Given the description of an element on the screen output the (x, y) to click on. 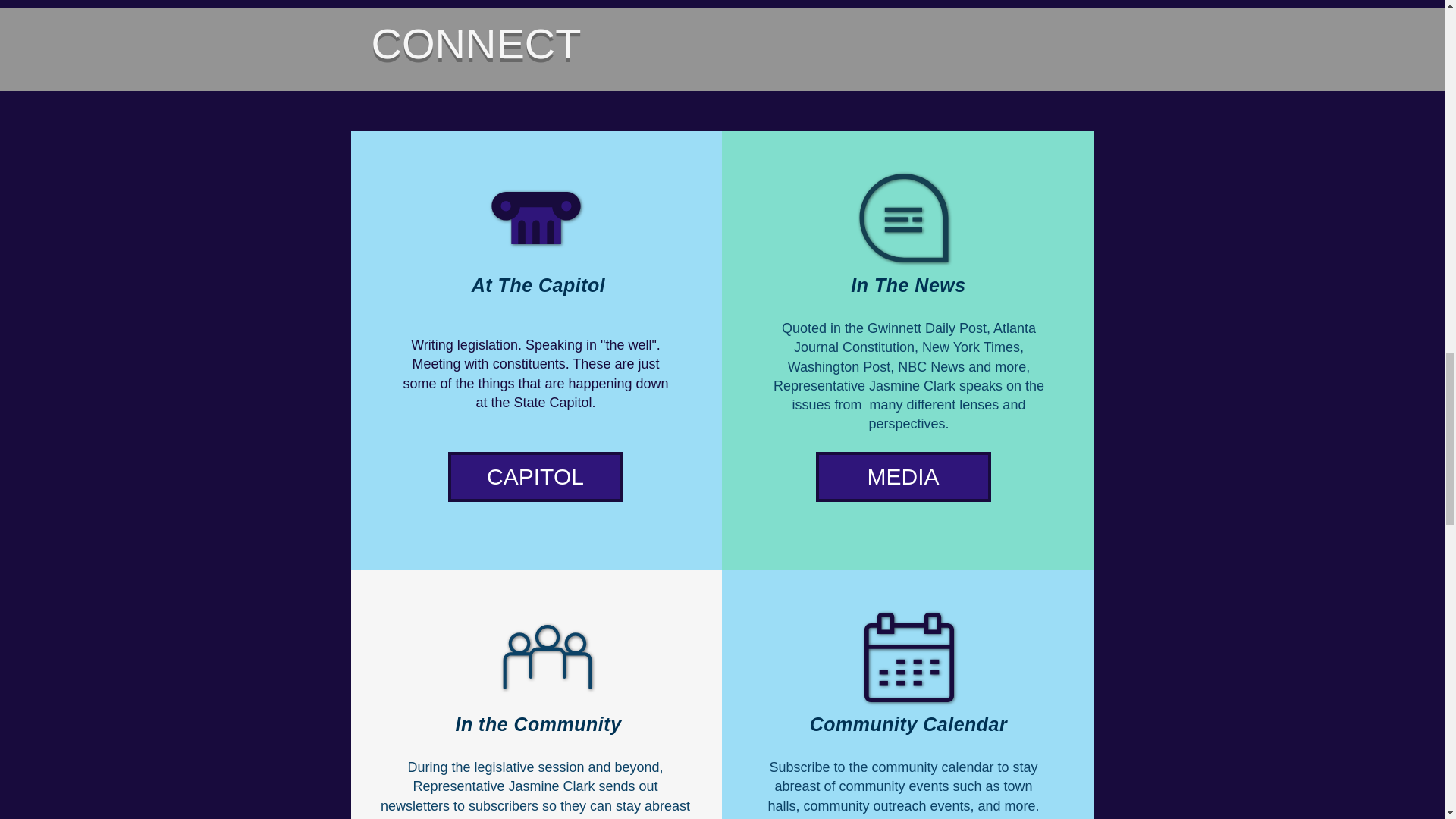
MEDIA (903, 477)
CAPITOL (534, 477)
